Given the description of an element on the screen output the (x, y) to click on. 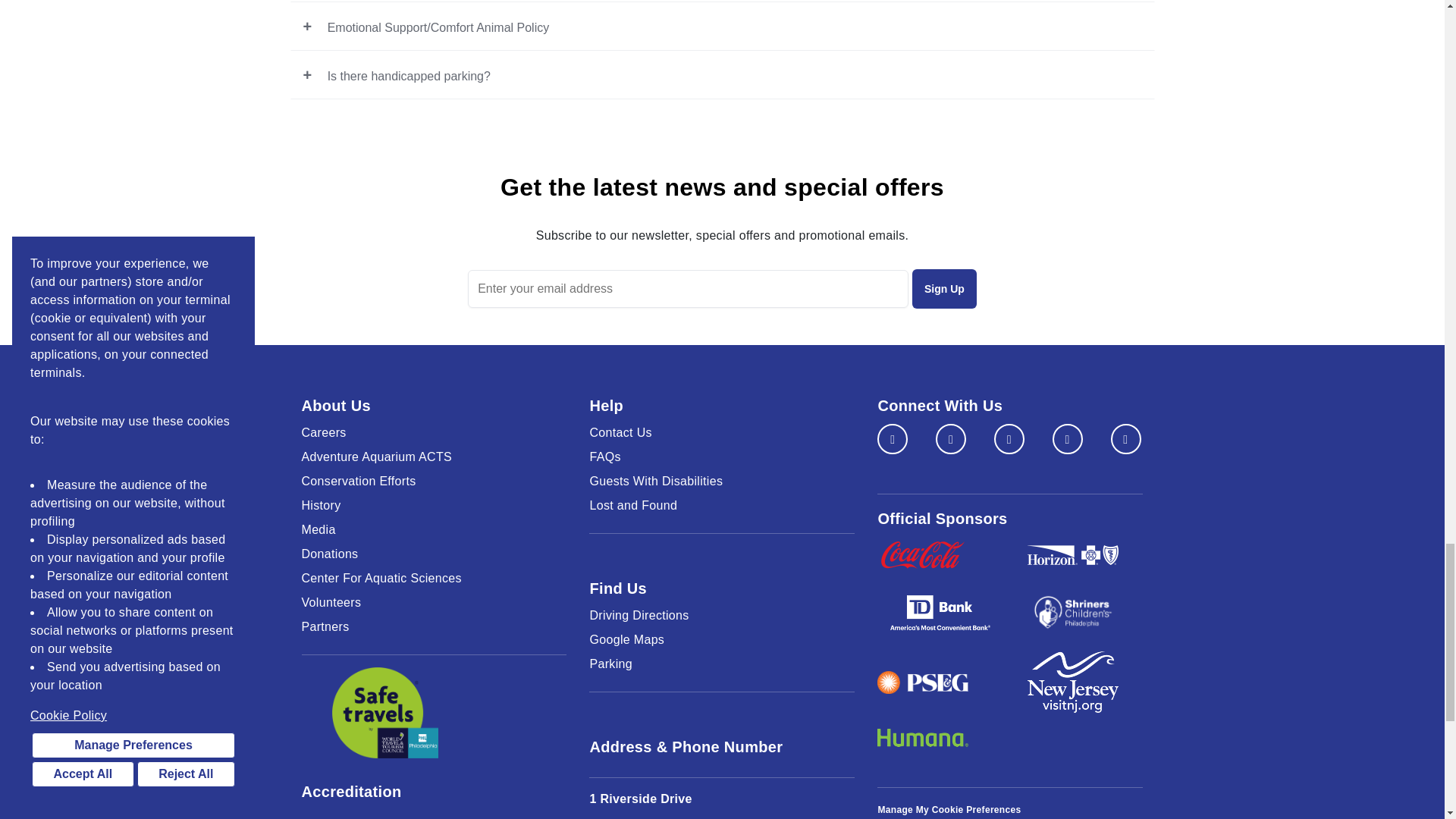
Lost and Found (721, 505)
ACTS (434, 456)
Conservation (434, 481)
Sign Up (944, 288)
Adventure Aquarium History (434, 505)
